Given the description of an element on the screen output the (x, y) to click on. 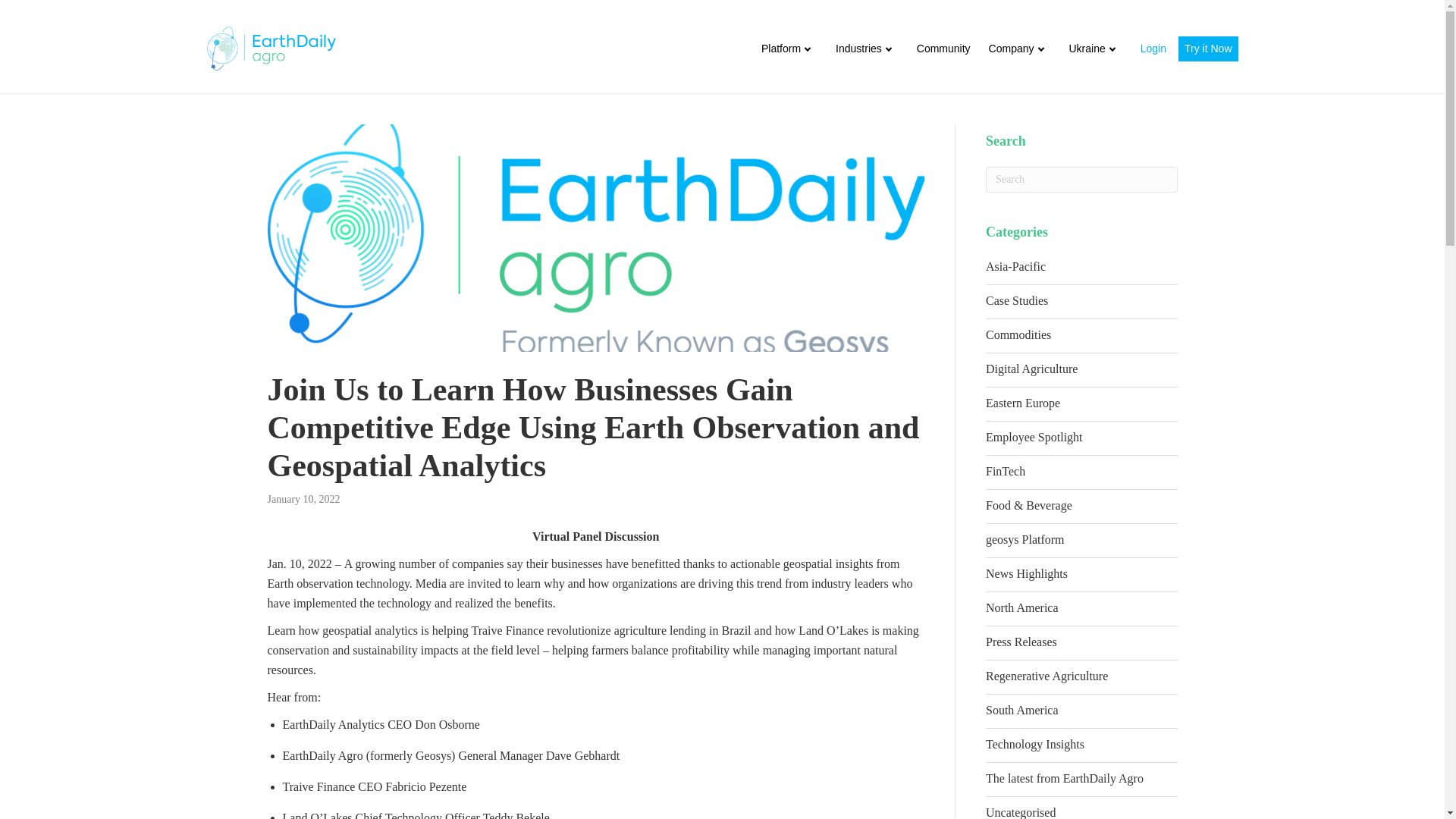
Employee Spotlight (1081, 441)
Digital Agriculture (1081, 373)
Commodities (1081, 338)
Eastern Europe (1081, 407)
Platform (789, 48)
Try it Now (1207, 48)
Ukraine (1095, 48)
Type and press Enter to search. (1081, 179)
Community (943, 48)
Login (1153, 48)
Industries (866, 48)
Case Studies (1081, 305)
Company (1019, 48)
Asia-Pacific (1081, 271)
logo-new-green (270, 48)
